Given the description of an element on the screen output the (x, y) to click on. 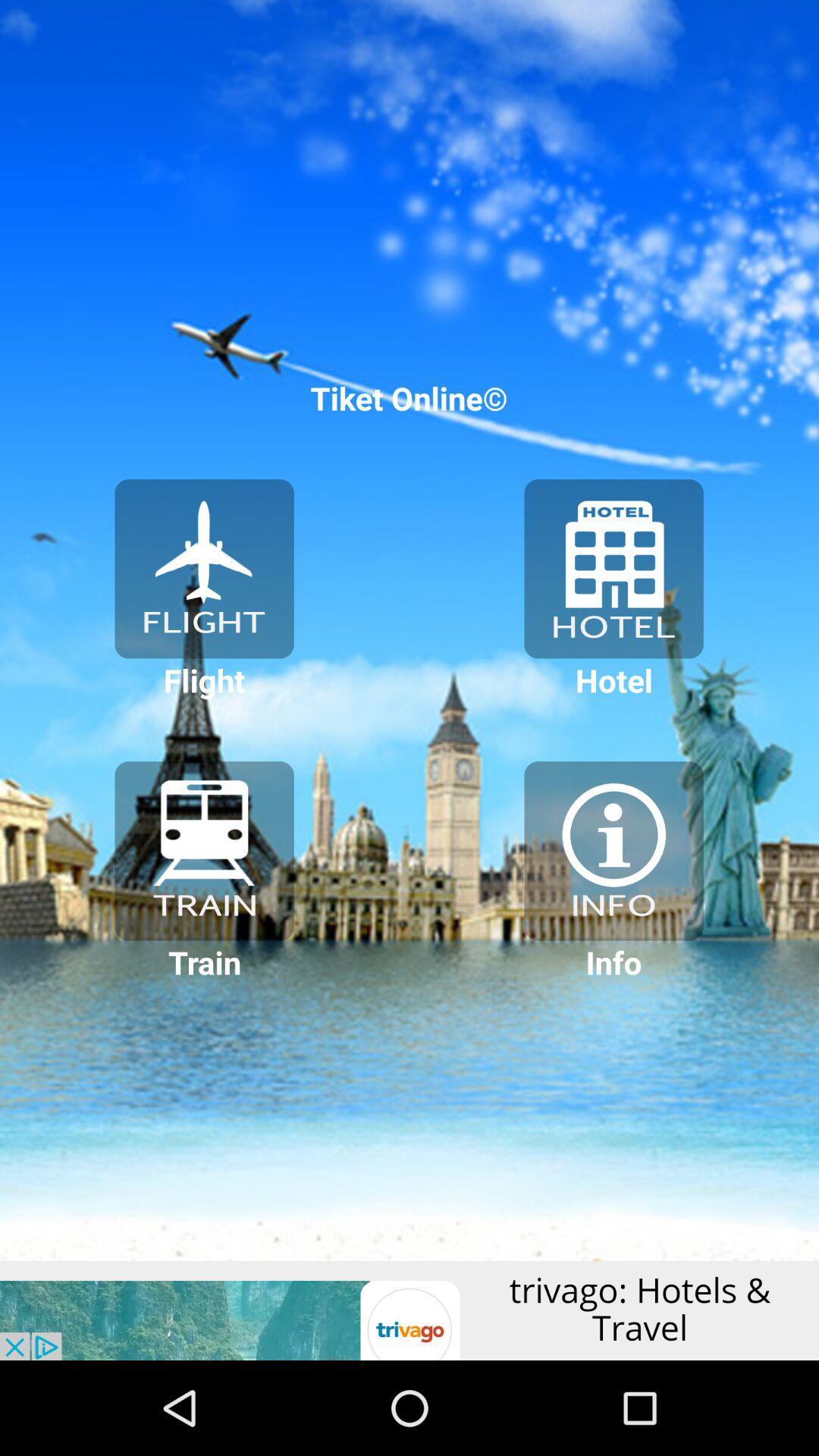
logon (204, 568)
